Given the description of an element on the screen output the (x, y) to click on. 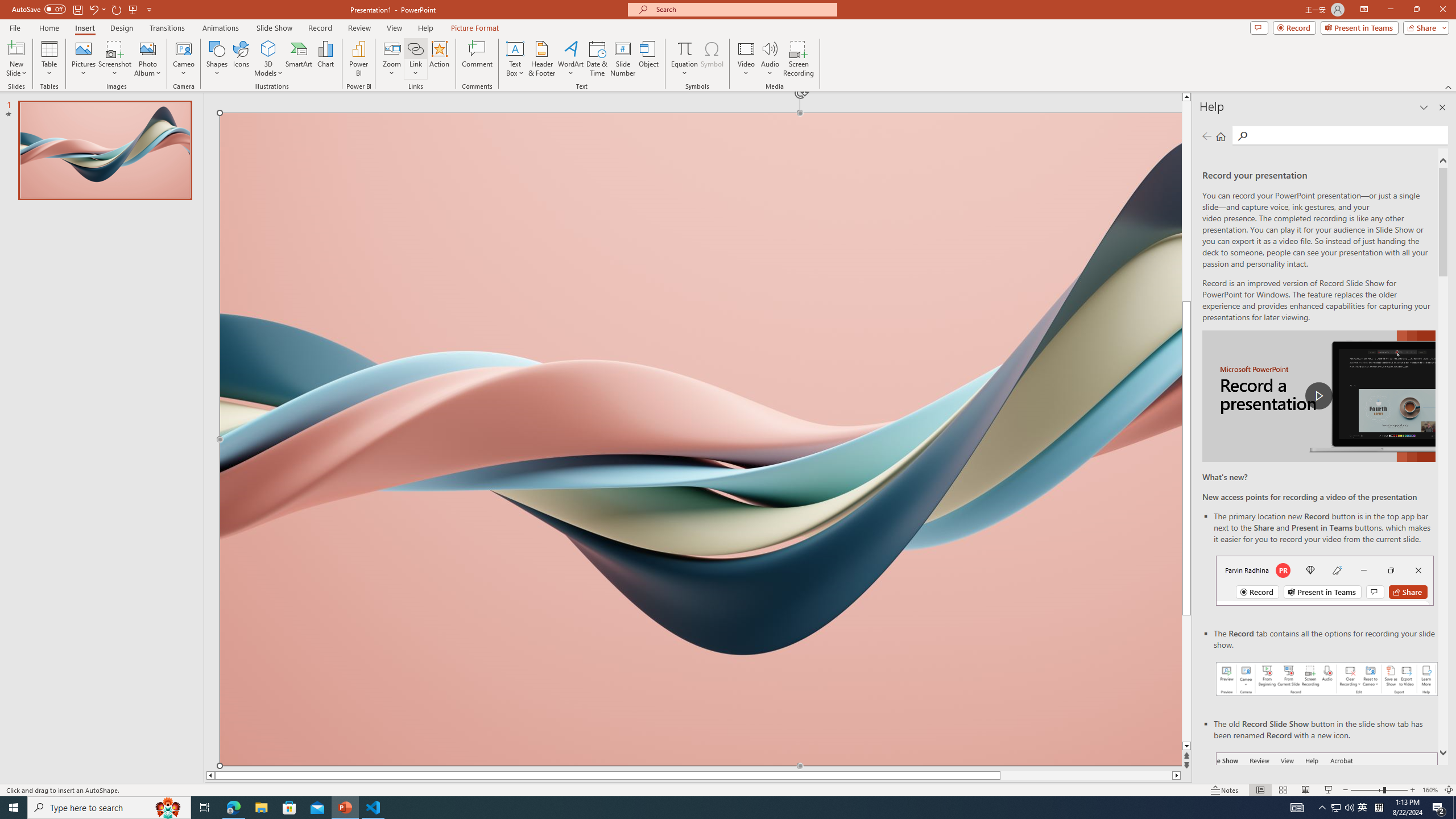
Symbol... (711, 58)
Icons (240, 58)
